Given the description of an element on the screen output the (x, y) to click on. 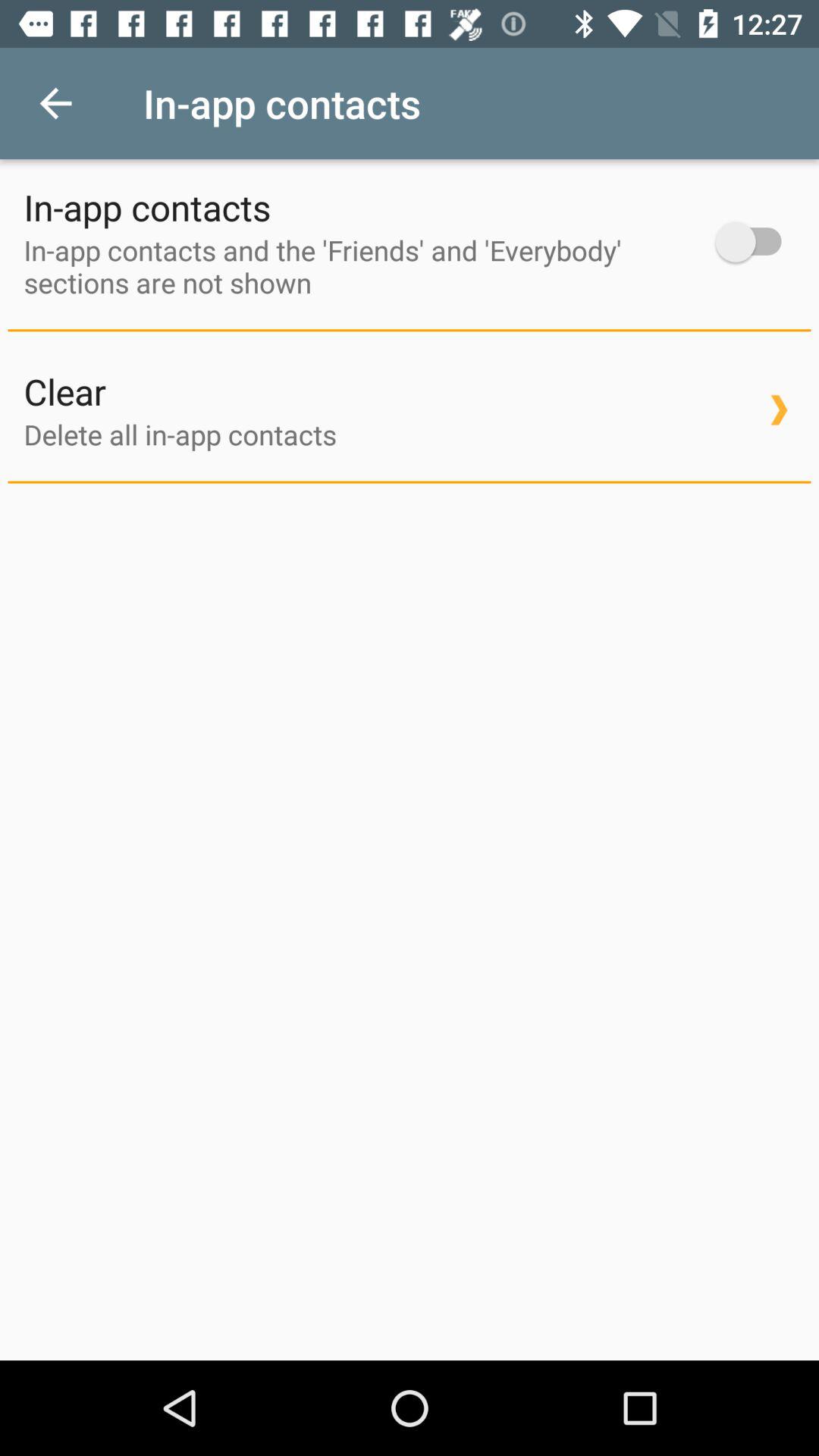
open icon next to in-app contacts (55, 103)
